Given the description of an element on the screen output the (x, y) to click on. 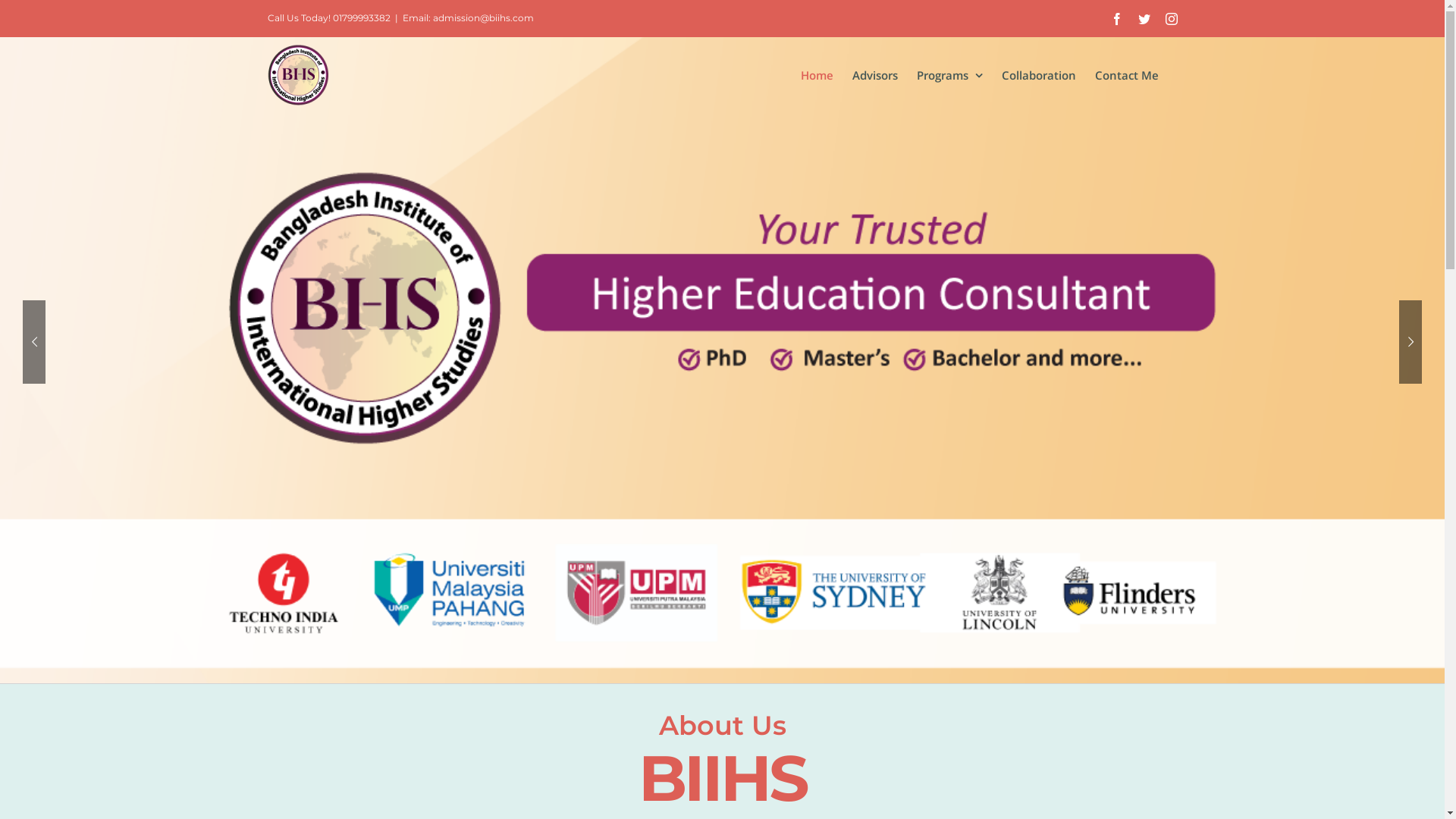
Collaboration Element type: text (1038, 74)
Instagram Element type: text (1170, 18)
Twitter Element type: text (1143, 18)
Contact Me Element type: text (1126, 74)
Facebook Element type: text (1116, 18)
Email: admission@biihs.com Element type: text (467, 17)
Programs Element type: text (949, 74)
Advisors Element type: text (874, 74)
Home Element type: text (816, 74)
